Given the description of an element on the screen output the (x, y) to click on. 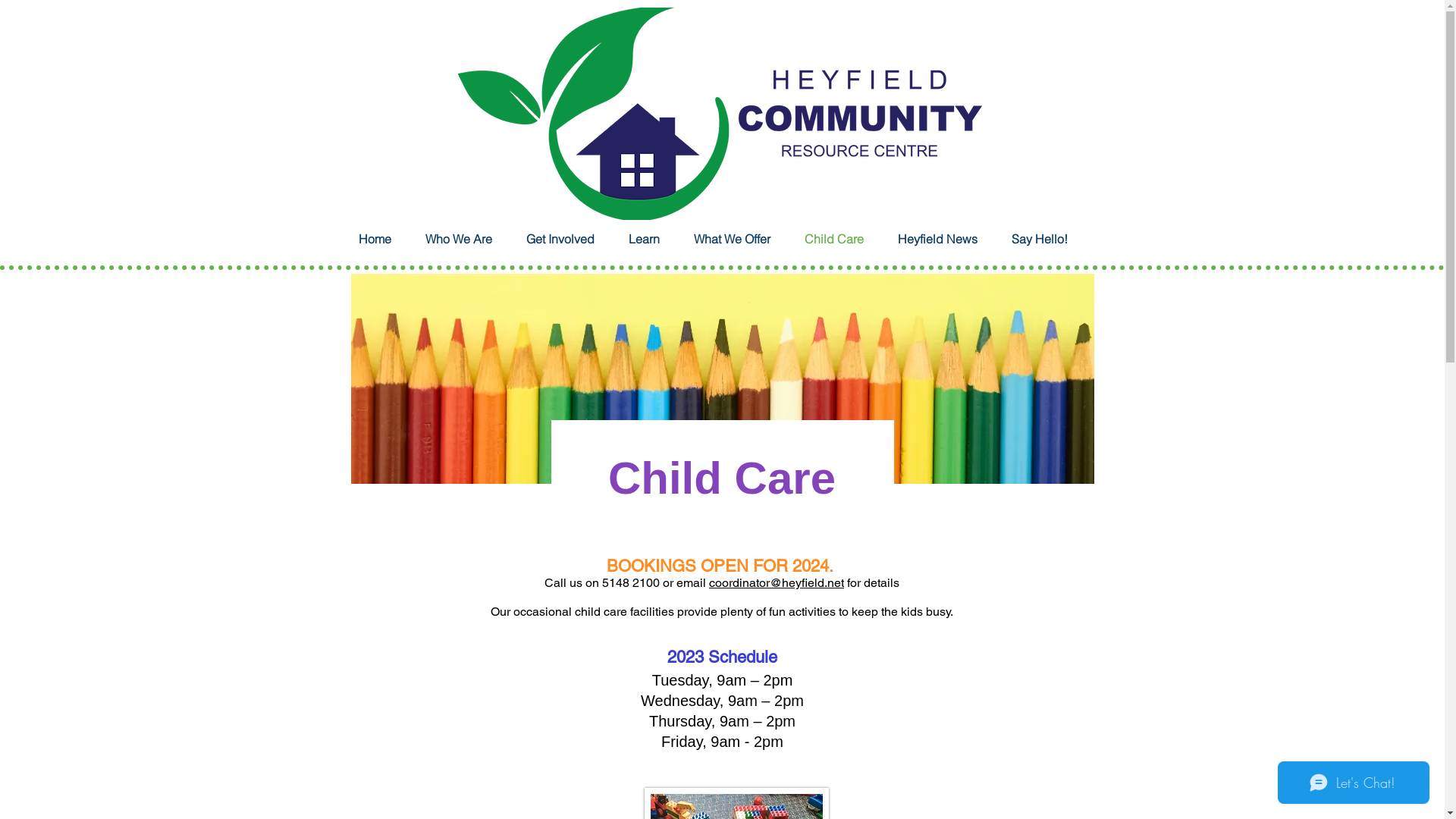
Child Care Element type: text (842, 239)
What We Offer Element type: text (740, 239)
Who We Are Element type: text (467, 239)
Say Hello! Element type: text (1049, 239)
Home Element type: text (383, 239)
coordinator@heyfield.net Element type: text (776, 582)
Heyfield News Element type: text (947, 239)
Learn Element type: text (652, 239)
